Given the description of an element on the screen output the (x, y) to click on. 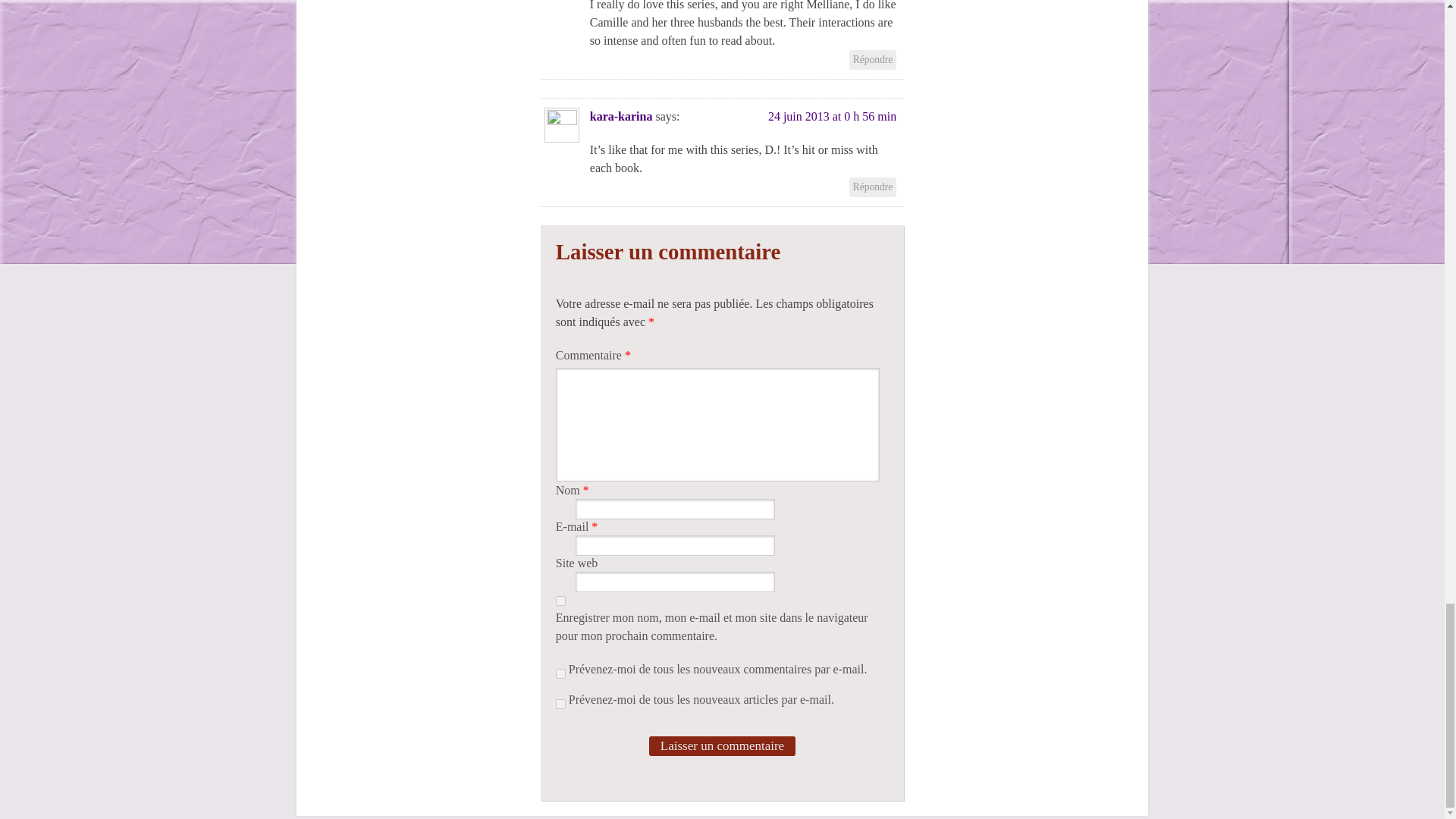
subscribe (561, 673)
yes (561, 601)
subscribe (561, 704)
Laisser un commentaire (721, 745)
